Given the description of an element on the screen output the (x, y) to click on. 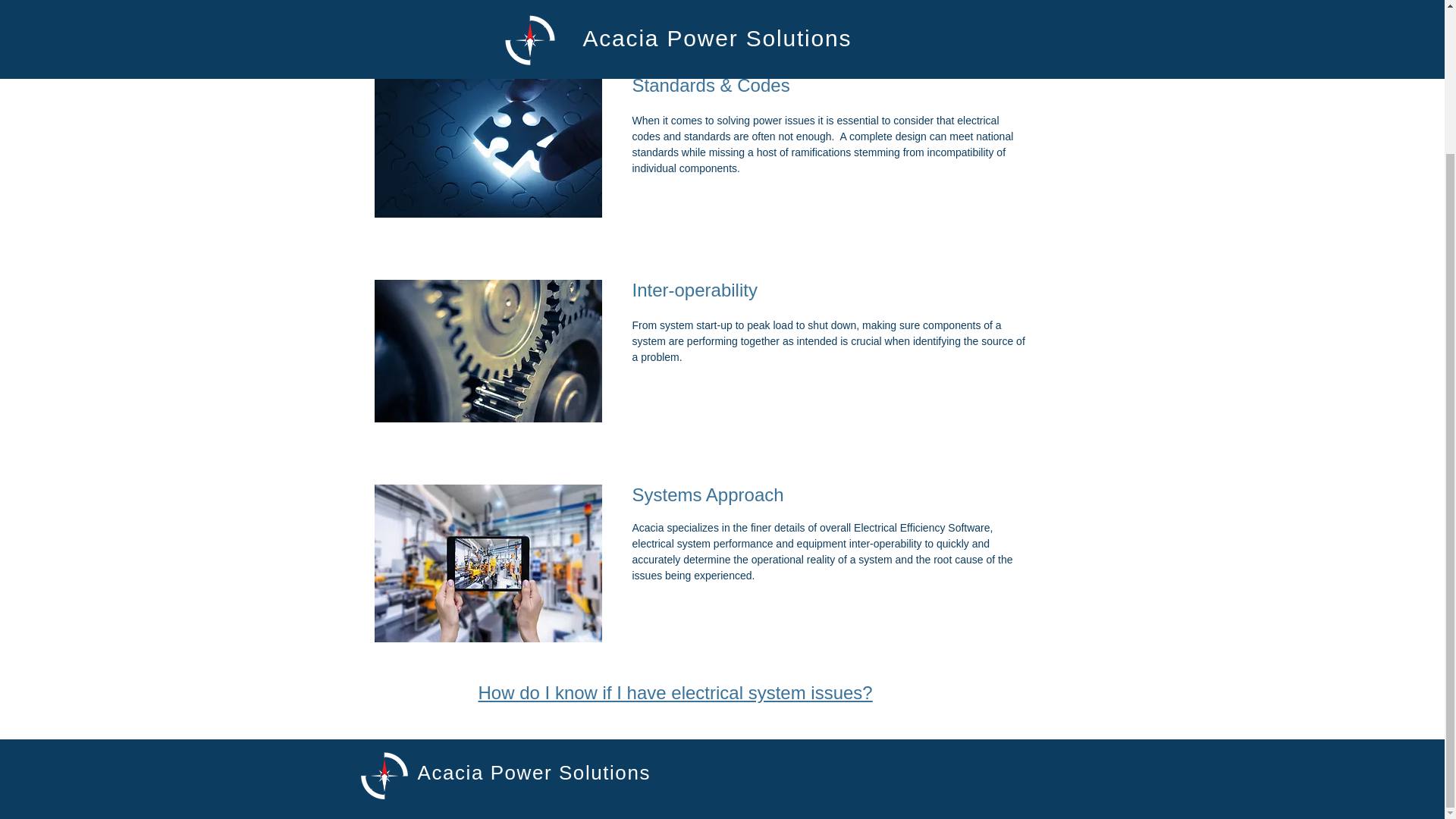
iStock-489145508.jpg (488, 146)
How do I know if I have electrical system issues? (674, 692)
iStock-584473348.jpg (488, 563)
AcaciaLogo016 0150ppi.png (383, 774)
iStock-544678168.jpg (488, 351)
Acacia Power Solutions (532, 772)
